Given the description of an element on the screen output the (x, y) to click on. 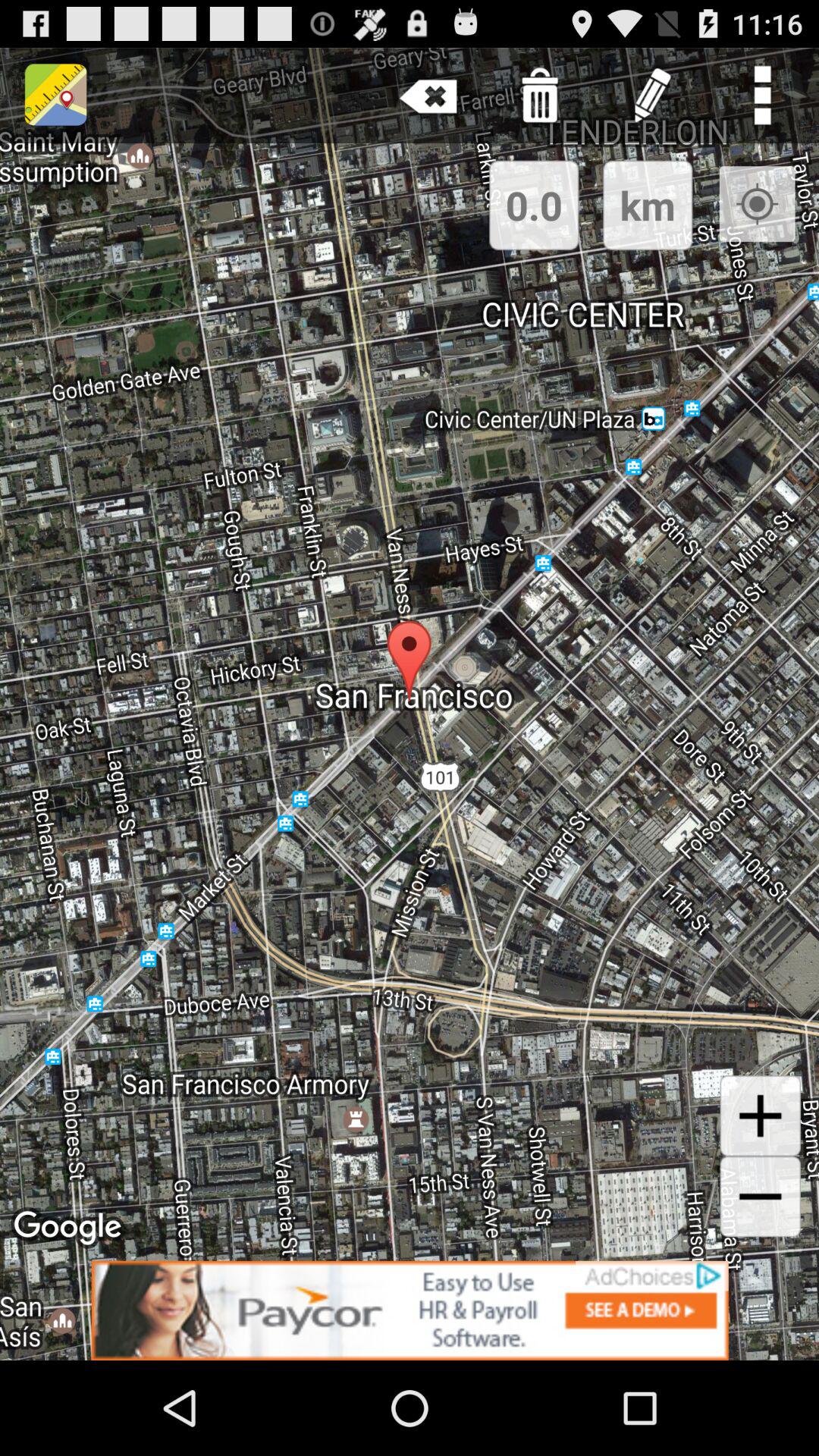
zoom out (760, 1196)
